Given the description of an element on the screen output the (x, y) to click on. 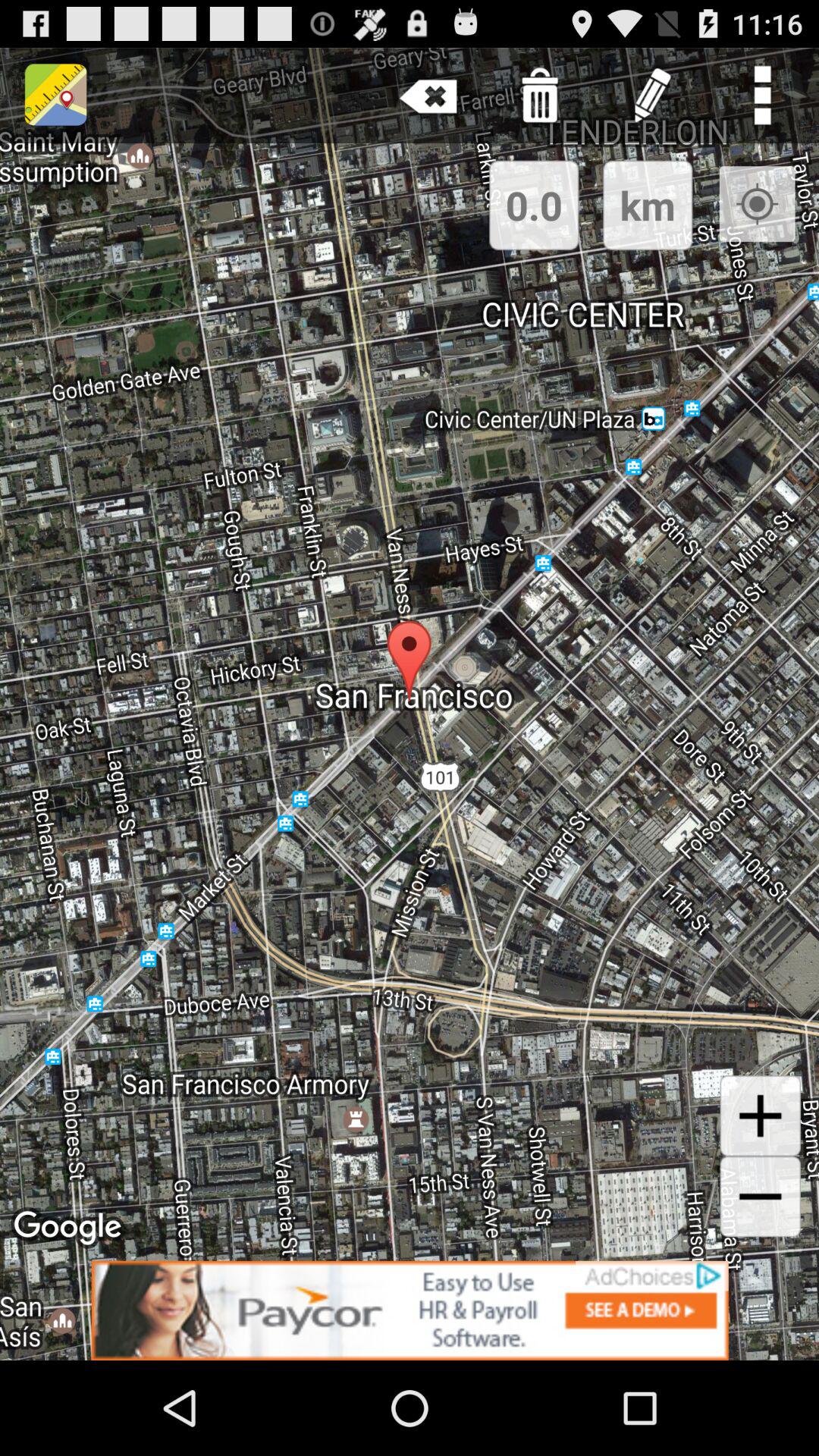
zoom out (760, 1196)
